Given the description of an element on the screen output the (x, y) to click on. 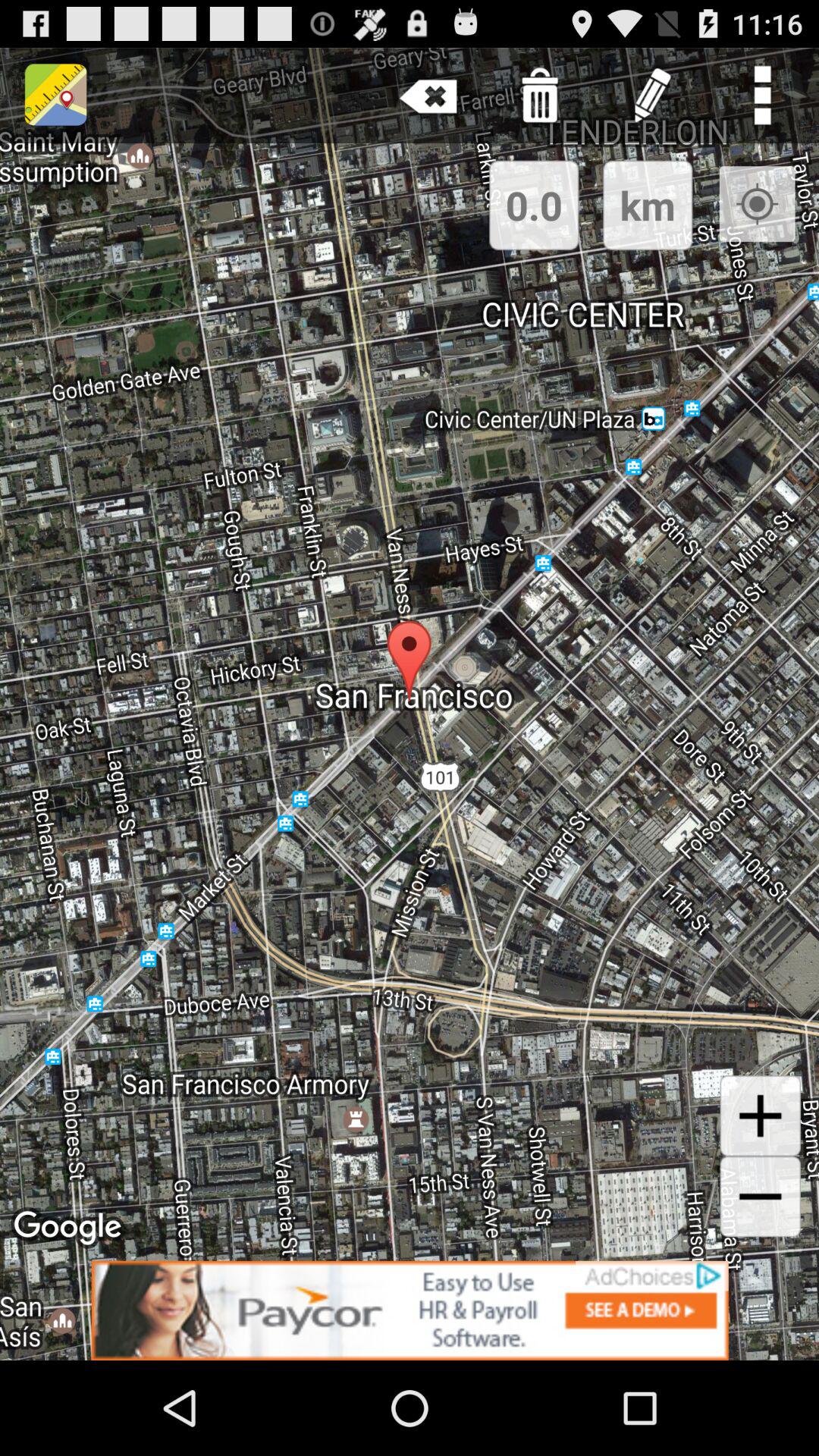
zoom out (760, 1196)
